Given the description of an element on the screen output the (x, y) to click on. 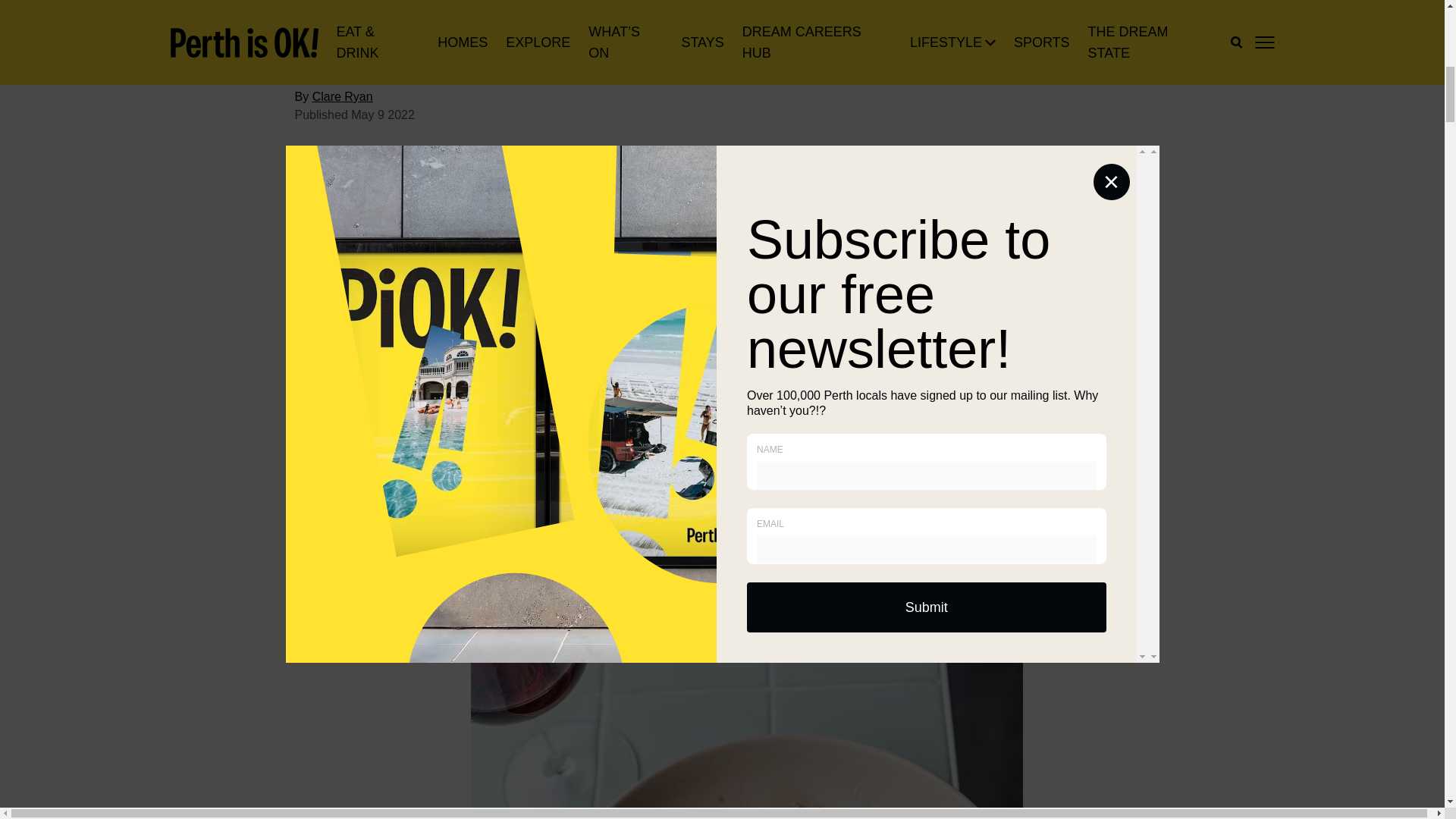
Clare Ryan (342, 47)
Home (307, 107)
Copy URL (423, 176)
